Given the description of an element on the screen output the (x, y) to click on. 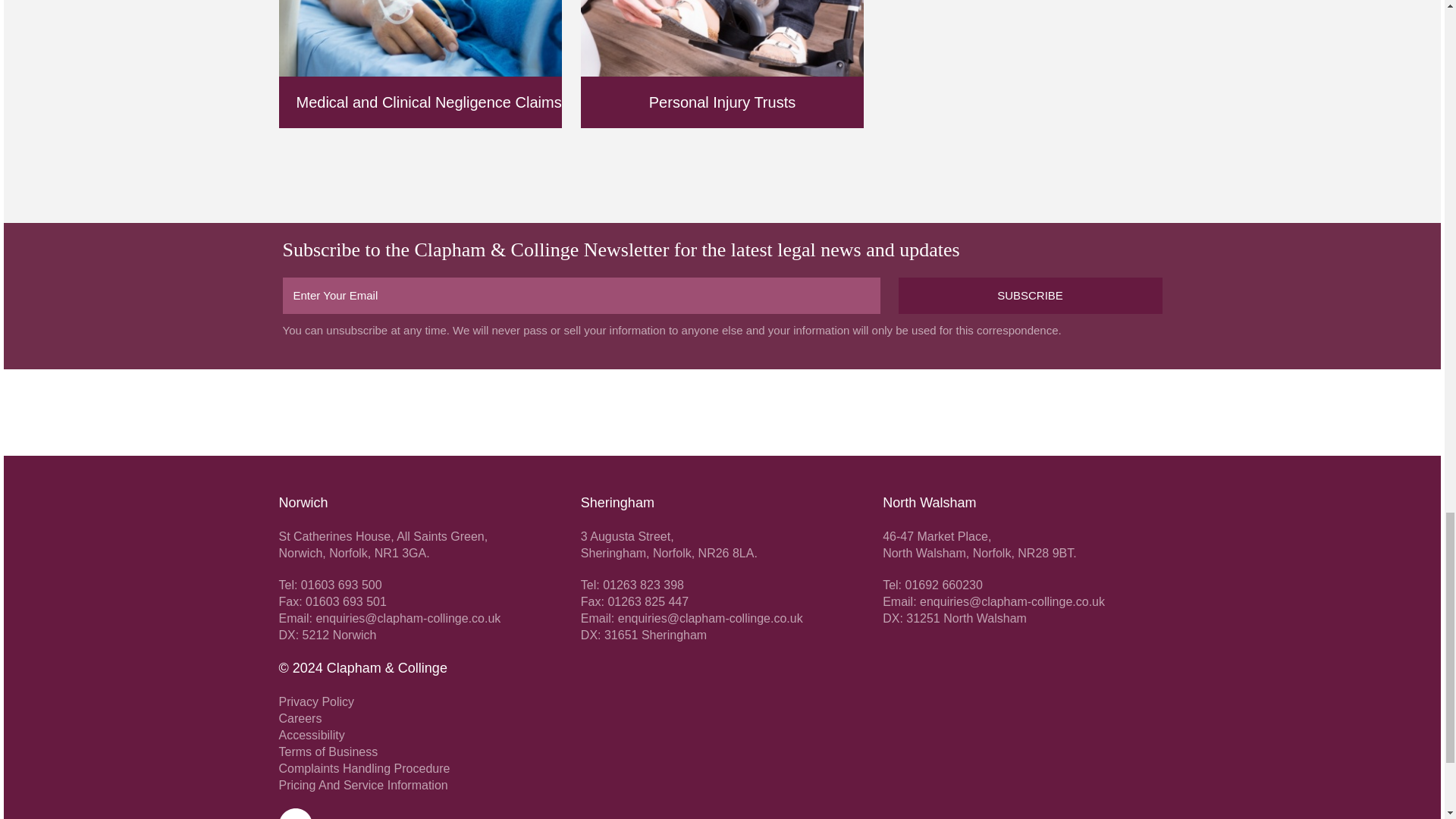
Subscribe (1029, 295)
